Given the description of an element on the screen output the (x, y) to click on. 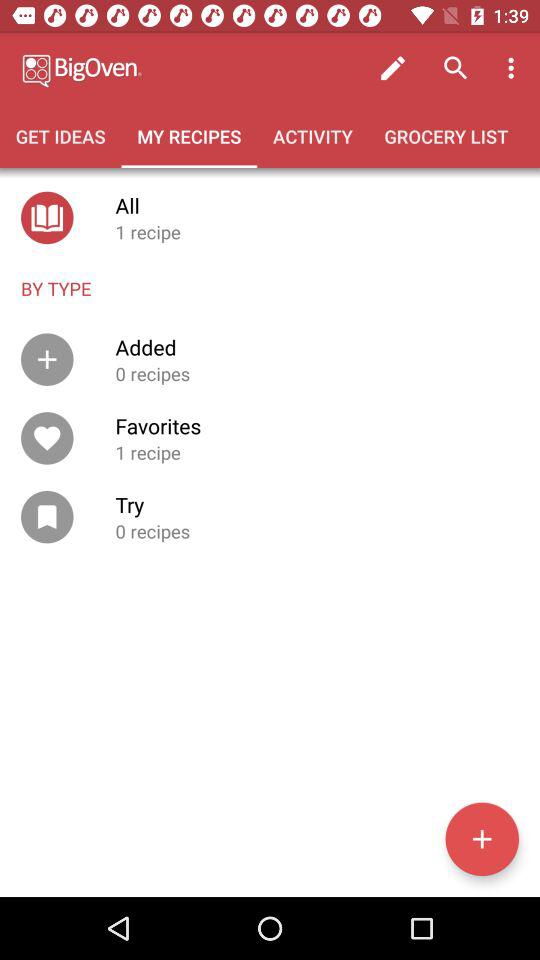
press item below the 0 recipes (482, 839)
